Given the description of an element on the screen output the (x, y) to click on. 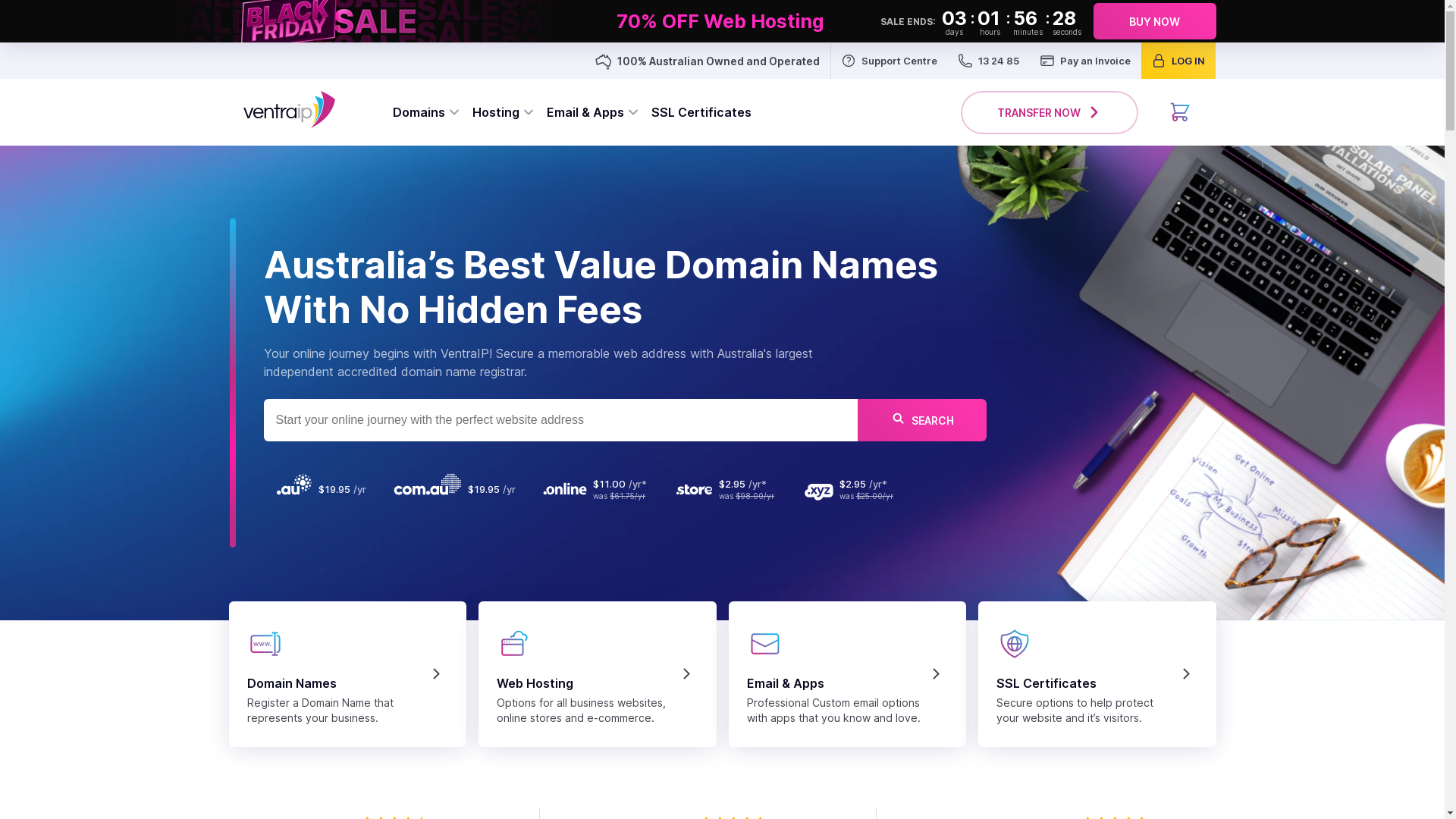
SEARCH Element type: text (920, 419)
security Element type: hover (1014, 643)
13 24 85 Element type: text (988, 60)
Email & Apps Element type: text (591, 111)
Pay an Invoice Element type: text (1085, 60)
TRANSFER NOW Element type: text (1049, 112)
Hosting Element type: text (502, 111)
$19
.95
/yr Element type: text (455, 489)
SSL Certificates Element type: text (700, 111)
$19
.95
/yr Element type: text (322, 489)
hosting Element type: hover (514, 643)
Domains Element type: text (426, 111)
LOG IN Element type: text (1177, 60)
was $25.00/yr
$2
.95
/yr* Element type: text (851, 489)
emailapps Element type: hover (764, 643)
domains Element type: hover (265, 643)
was $61.75/yr
$11
.00
/yr* Element type: text (597, 489)
was $98.00/yr
$2
.95
/yr* Element type: text (727, 489)
BUY NOW Element type: text (1154, 21)
Support Centre Element type: text (889, 60)
